Given the description of an element on the screen output the (x, y) to click on. 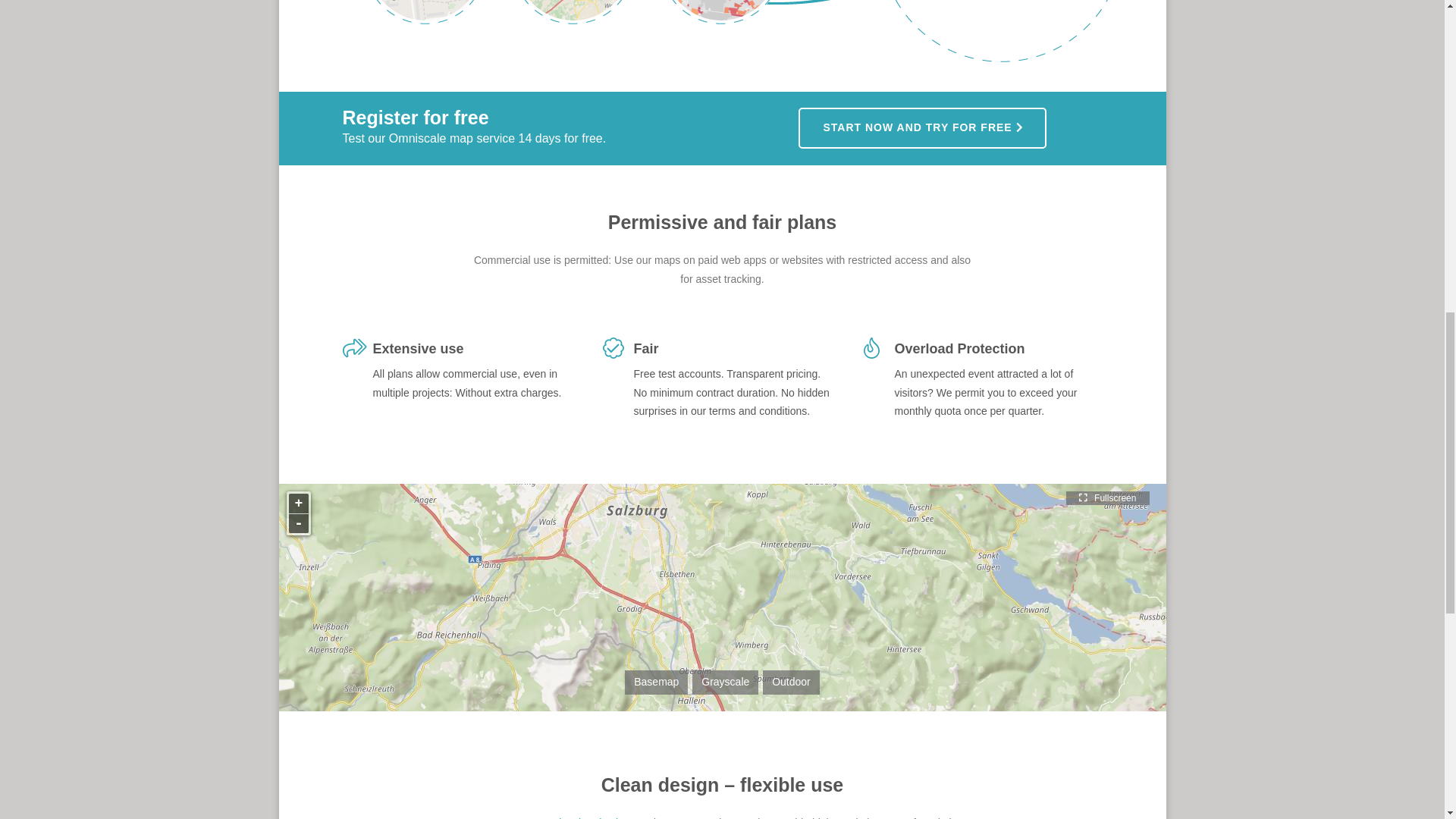
your local projections (584, 817)
- (297, 523)
Zoom in (297, 503)
Outdoor (791, 682)
START NOW AND TRY FOR FREE (921, 127)
Grayscale (724, 682)
Zoom out (297, 523)
Basemap (656, 682)
Fullscreen (1107, 498)
